Given the description of an element on the screen output the (x, y) to click on. 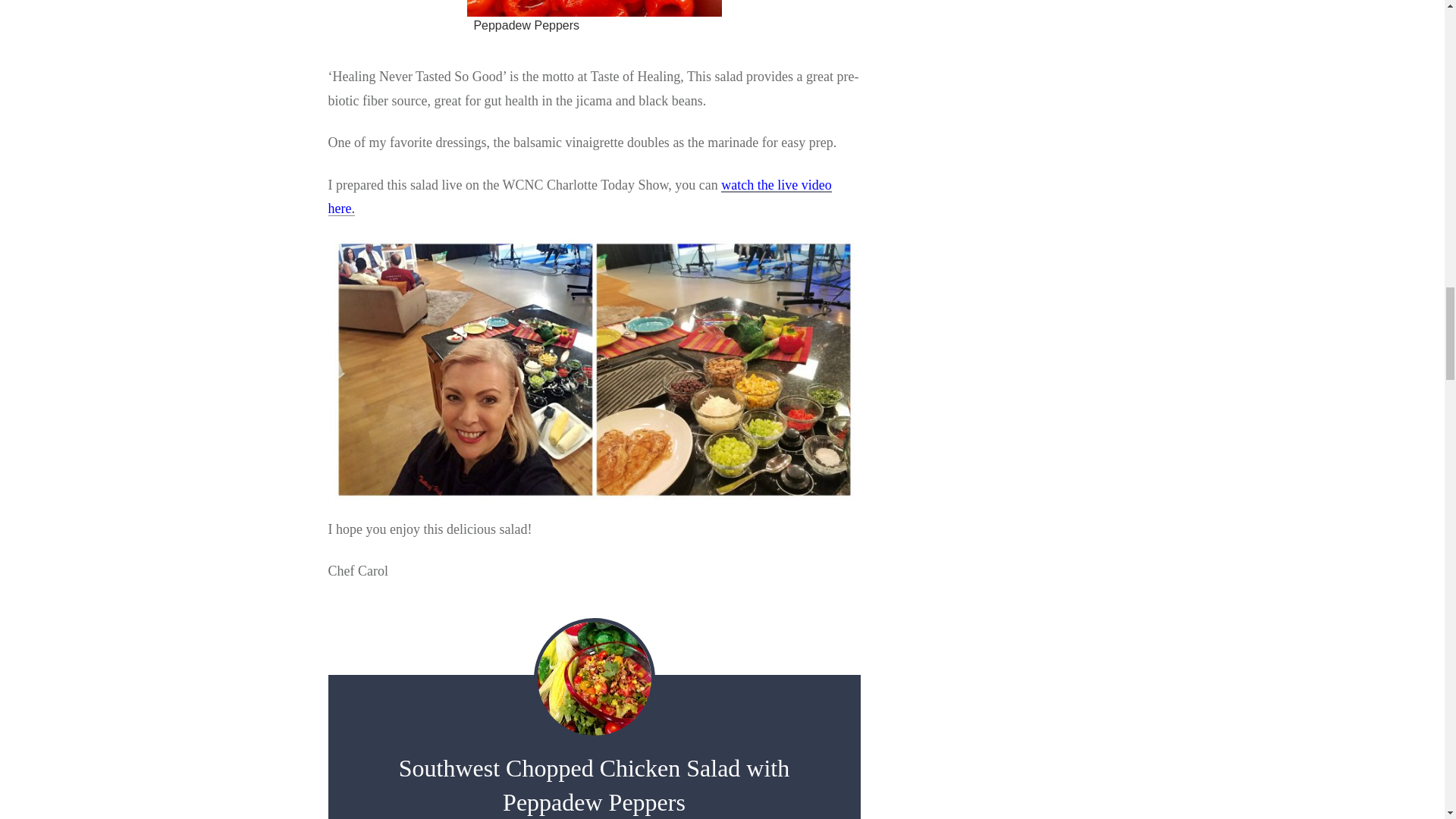
watch the live video here. (579, 197)
